Given the description of an element on the screen output the (x, y) to click on. 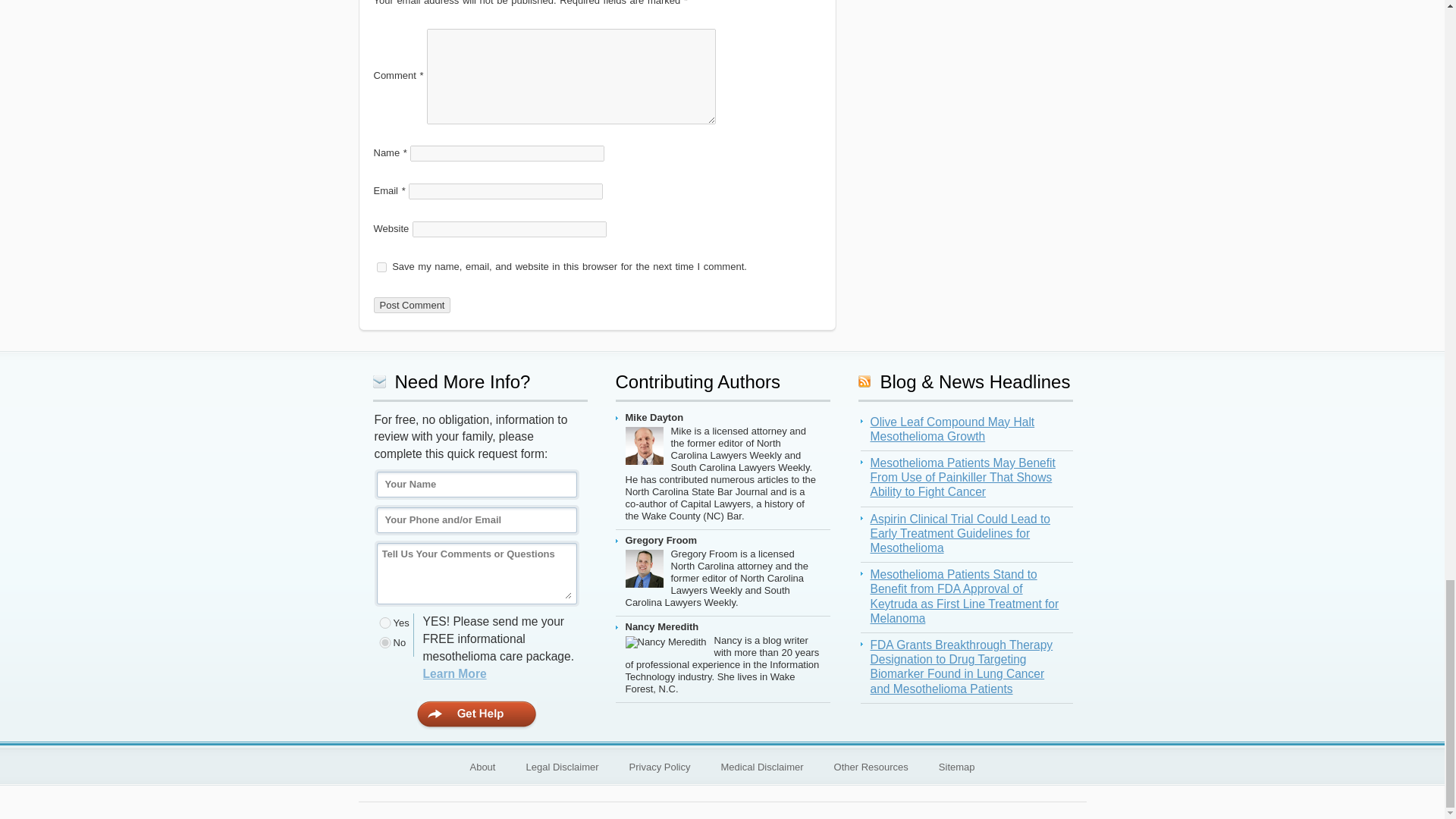
yes (380, 266)
Your Name (476, 484)
Post Comment (410, 304)
Gregory Froom (646, 571)
No (384, 642)
Mike Dayton (646, 448)
Nancy Meredith (668, 645)
Get Help (476, 715)
Yes (384, 622)
Post Comment (410, 304)
